Given the description of an element on the screen output the (x, y) to click on. 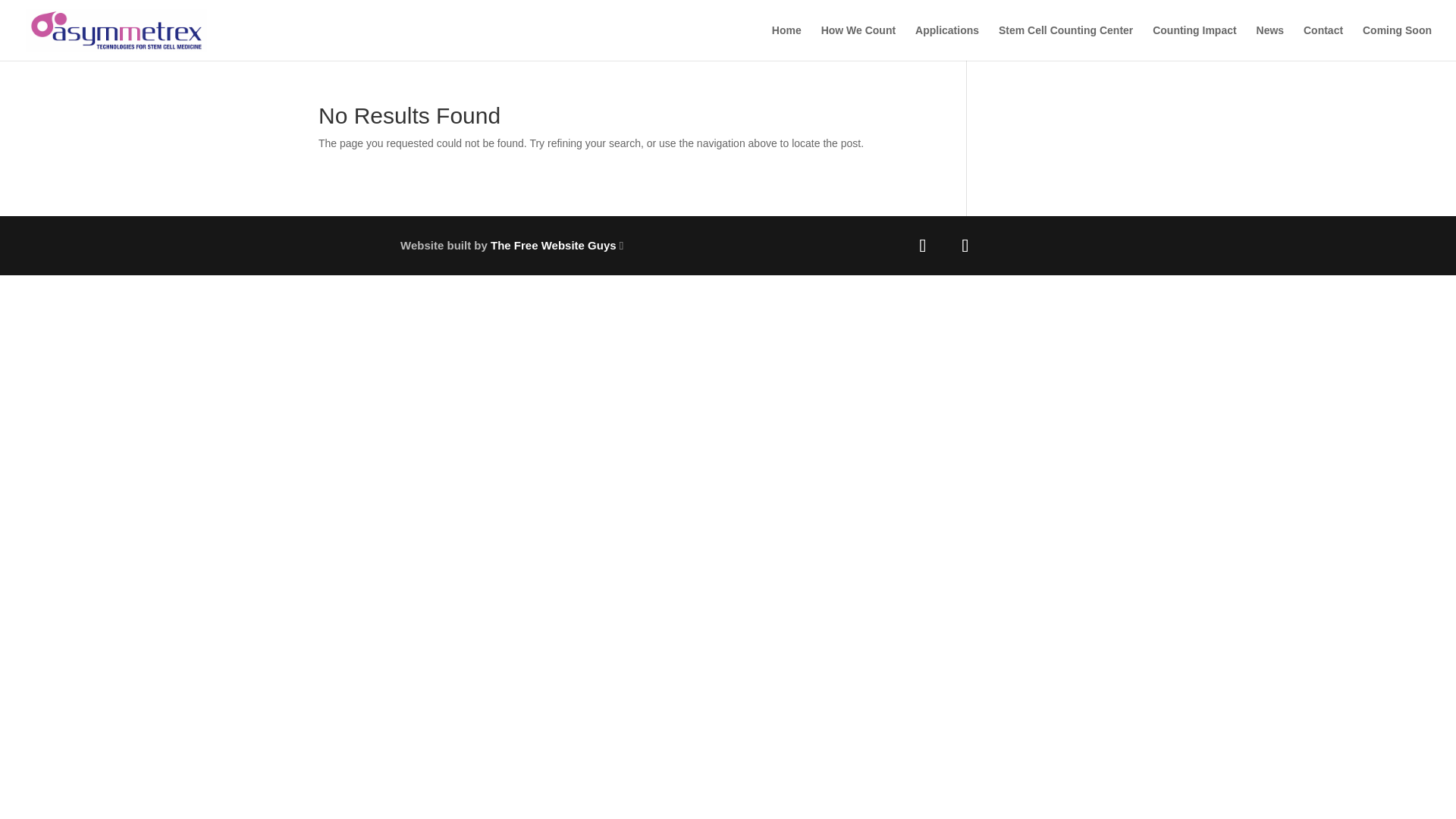
Applications (946, 42)
Counting Impact (1194, 42)
How We Count (858, 42)
Follow on Facebook (922, 245)
The Free Website Guys (552, 245)
Follow on Instagram (965, 245)
Stem Cell Counting Center (1065, 42)
Coming Soon (1396, 42)
Contact (1322, 42)
